Given the description of an element on the screen output the (x, y) to click on. 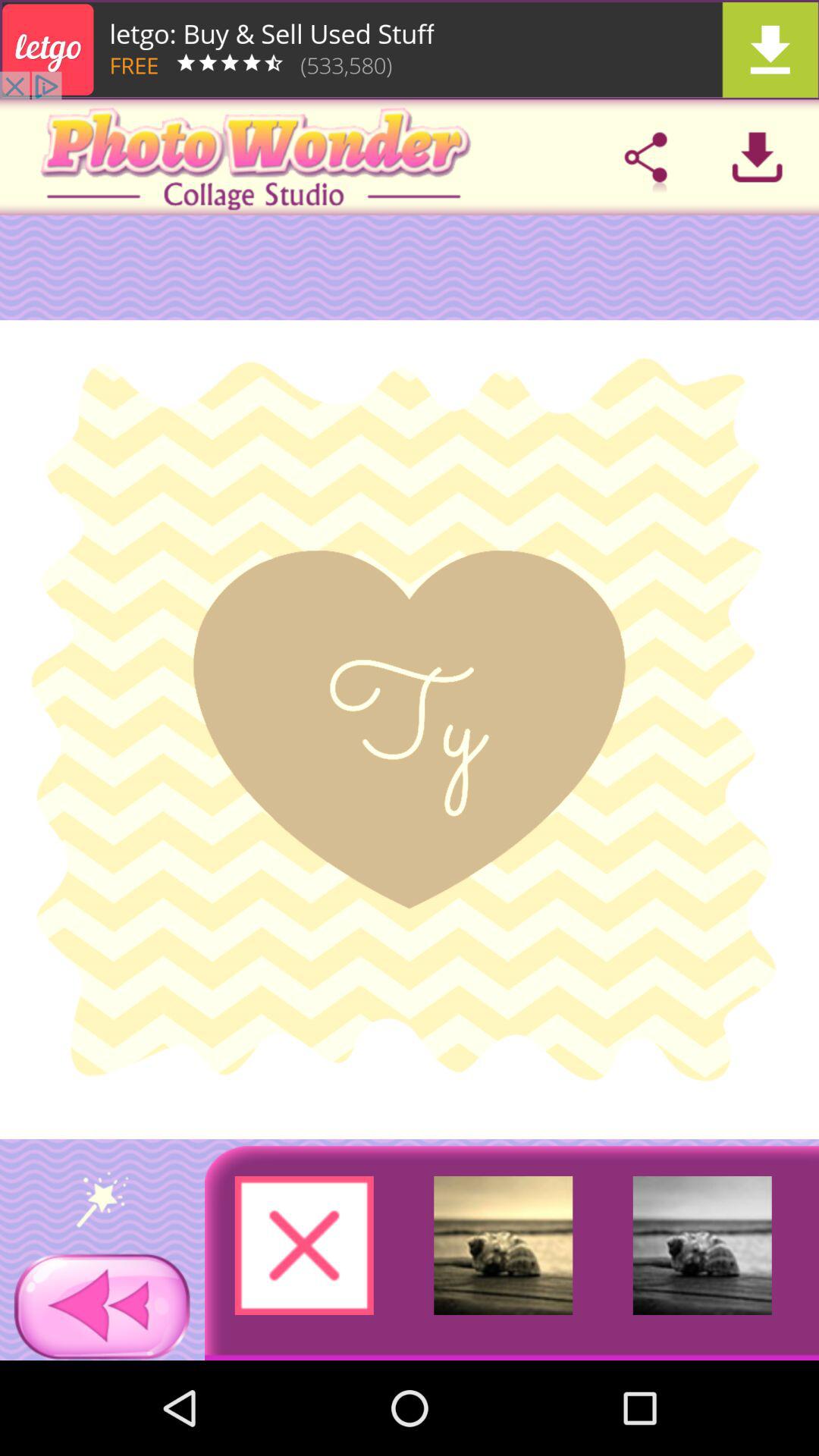
share the collage (645, 157)
